Given the description of an element on the screen output the (x, y) to click on. 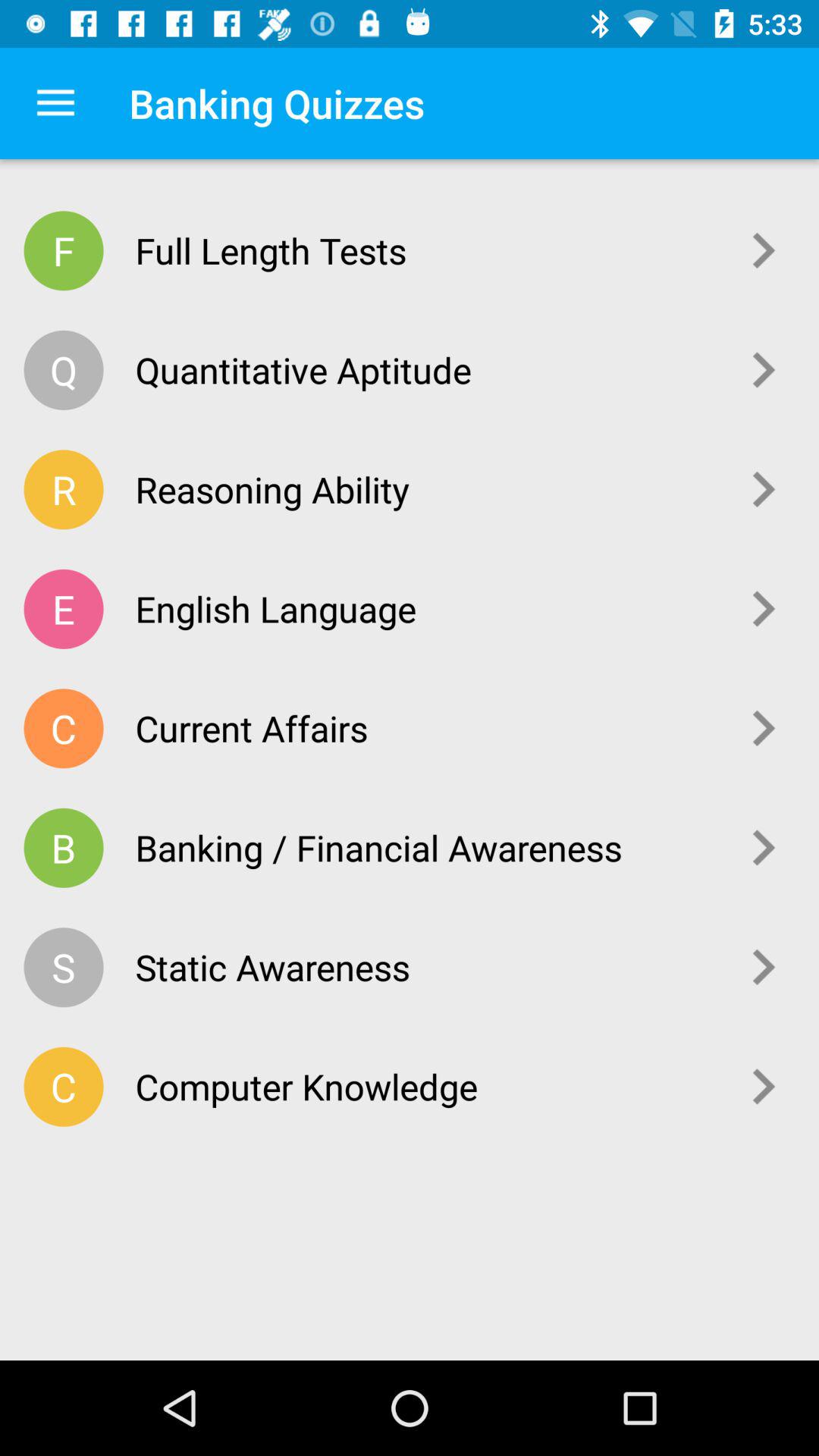
select icon to the left of the quantitative aptitude icon (63, 370)
